Given the description of an element on the screen output the (x, y) to click on. 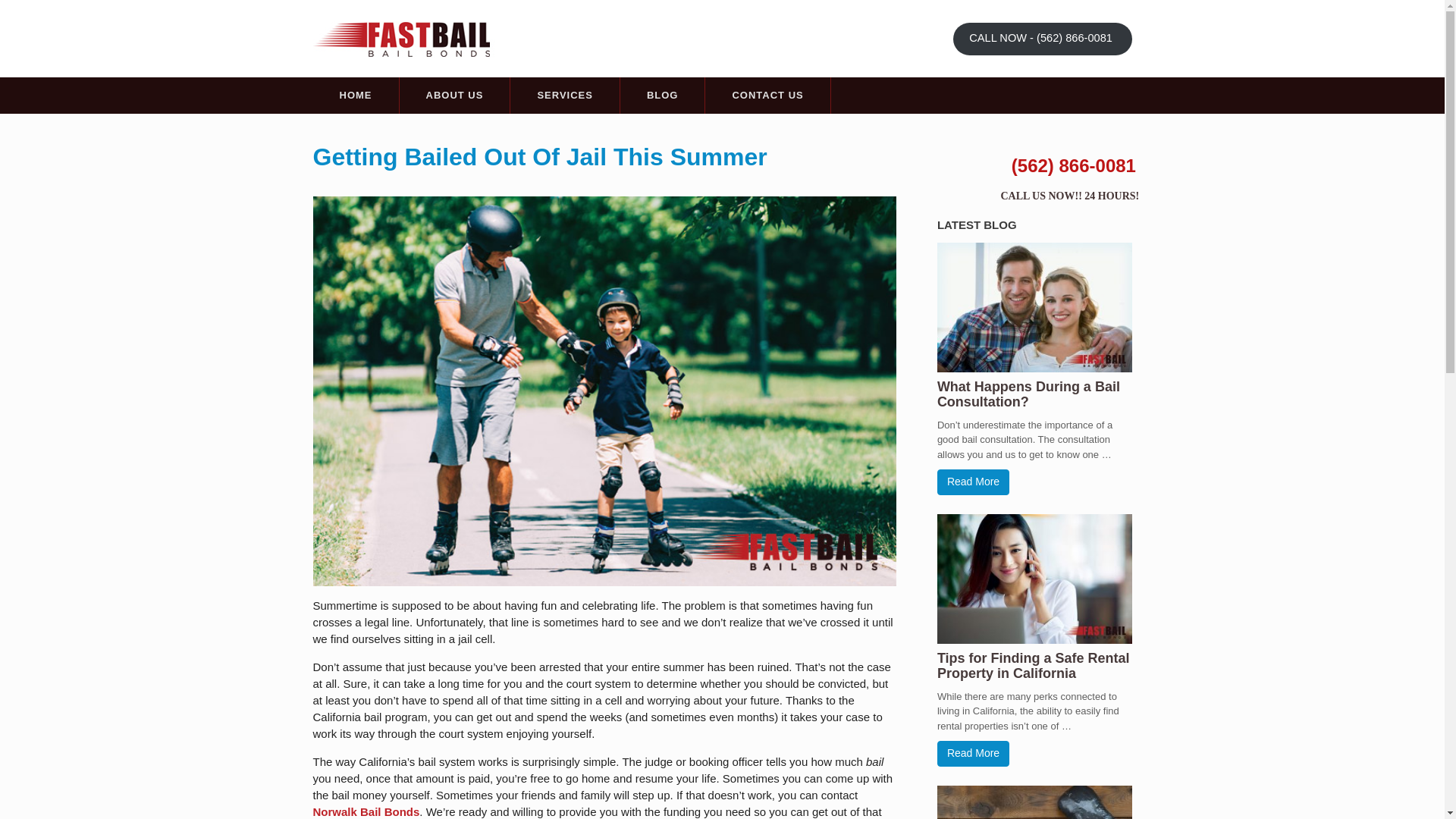
Read More (973, 482)
Read More (973, 753)
HOME (355, 94)
FastBail Bail Bonds (407, 37)
BLOG (662, 94)
What Happens During a Bail Consultation? (1028, 394)
SERVICES (565, 94)
CONTACT US (766, 94)
Tips for Finding a Safe Rental Property in California (1033, 665)
ABOUT US (453, 94)
